Given the description of an element on the screen output the (x, y) to click on. 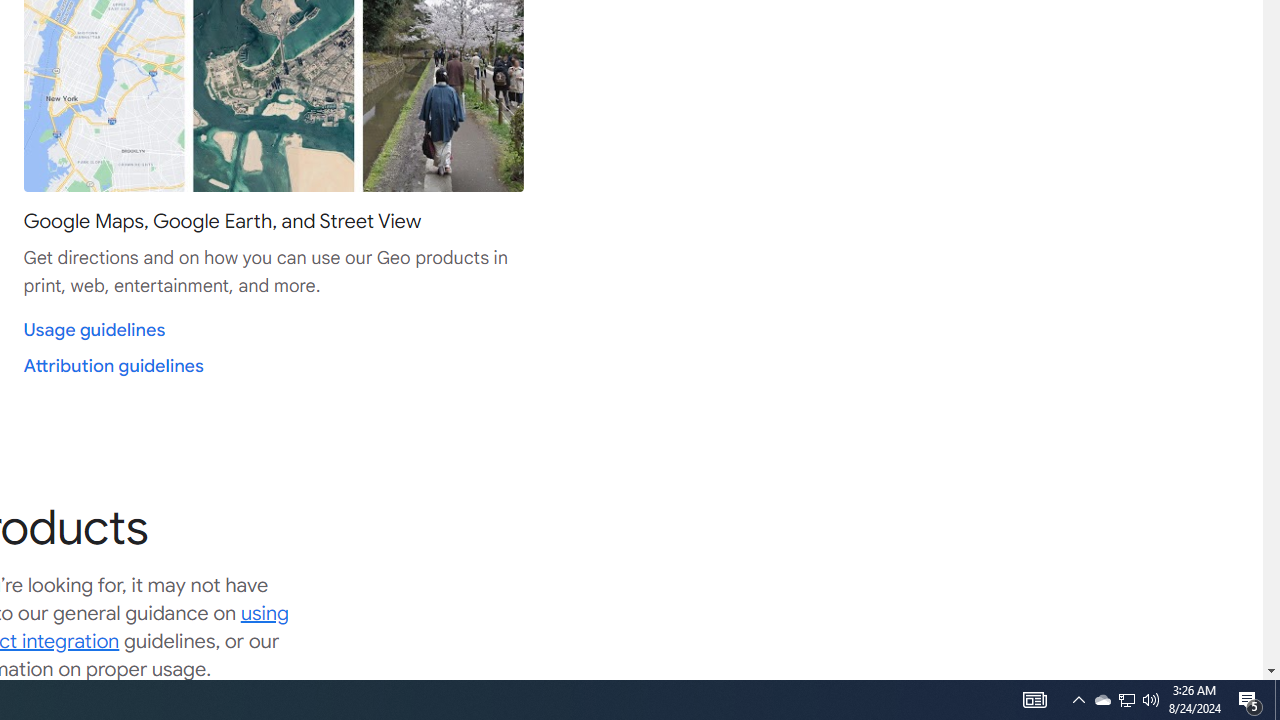
Attribution guidelines (113, 365)
Usage guidelines (94, 329)
